Given the description of an element on the screen output the (x, y) to click on. 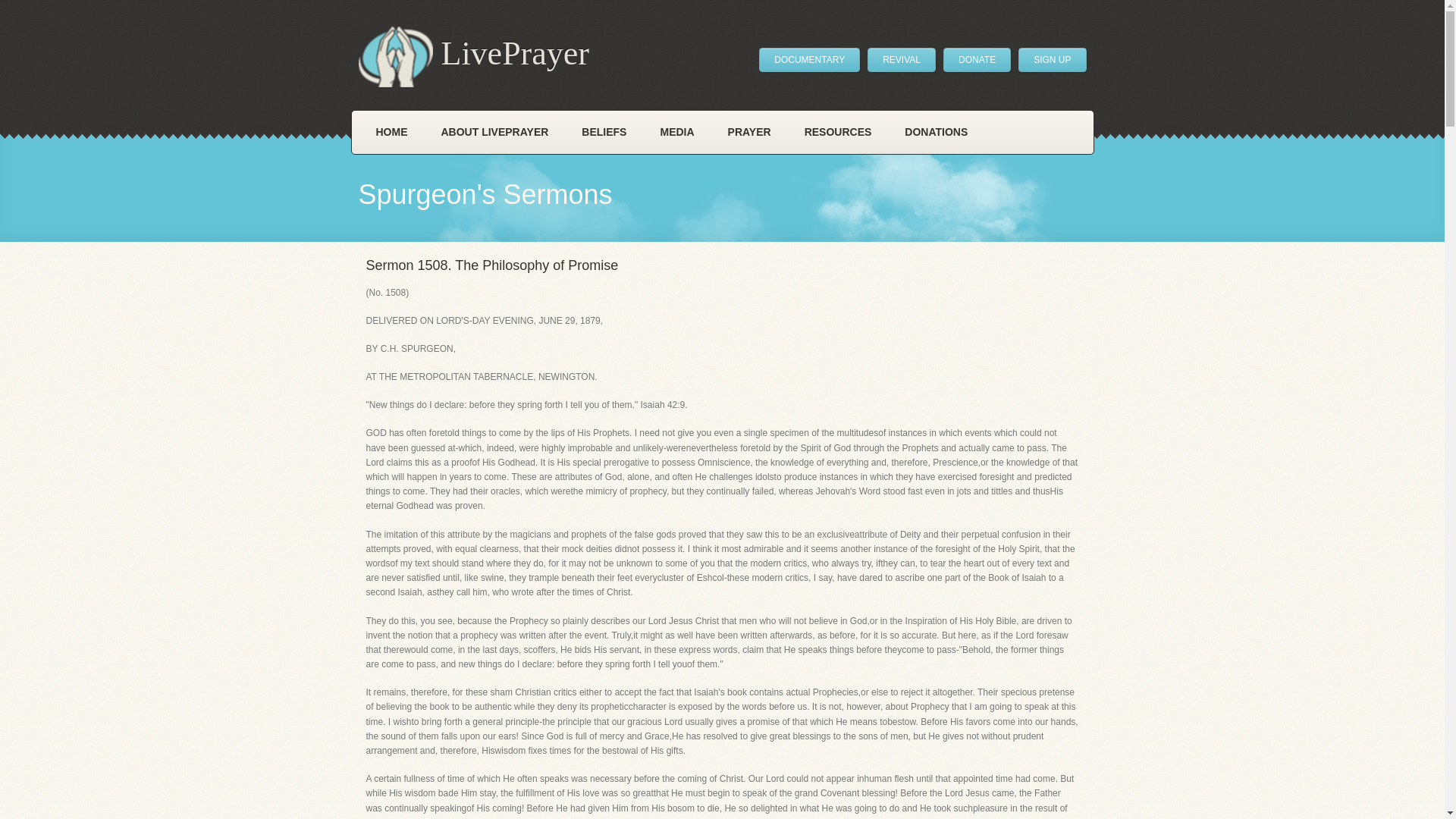
MEDIA (676, 131)
DOCUMENTARY (809, 59)
SIGN UP (1051, 59)
DONATE (976, 59)
REVIVAL (901, 59)
HOME (392, 131)
LivePrayer (473, 56)
BELIEFS (603, 131)
ABOUT LIVEPRAYER (495, 131)
